Given the description of an element on the screen output the (x, y) to click on. 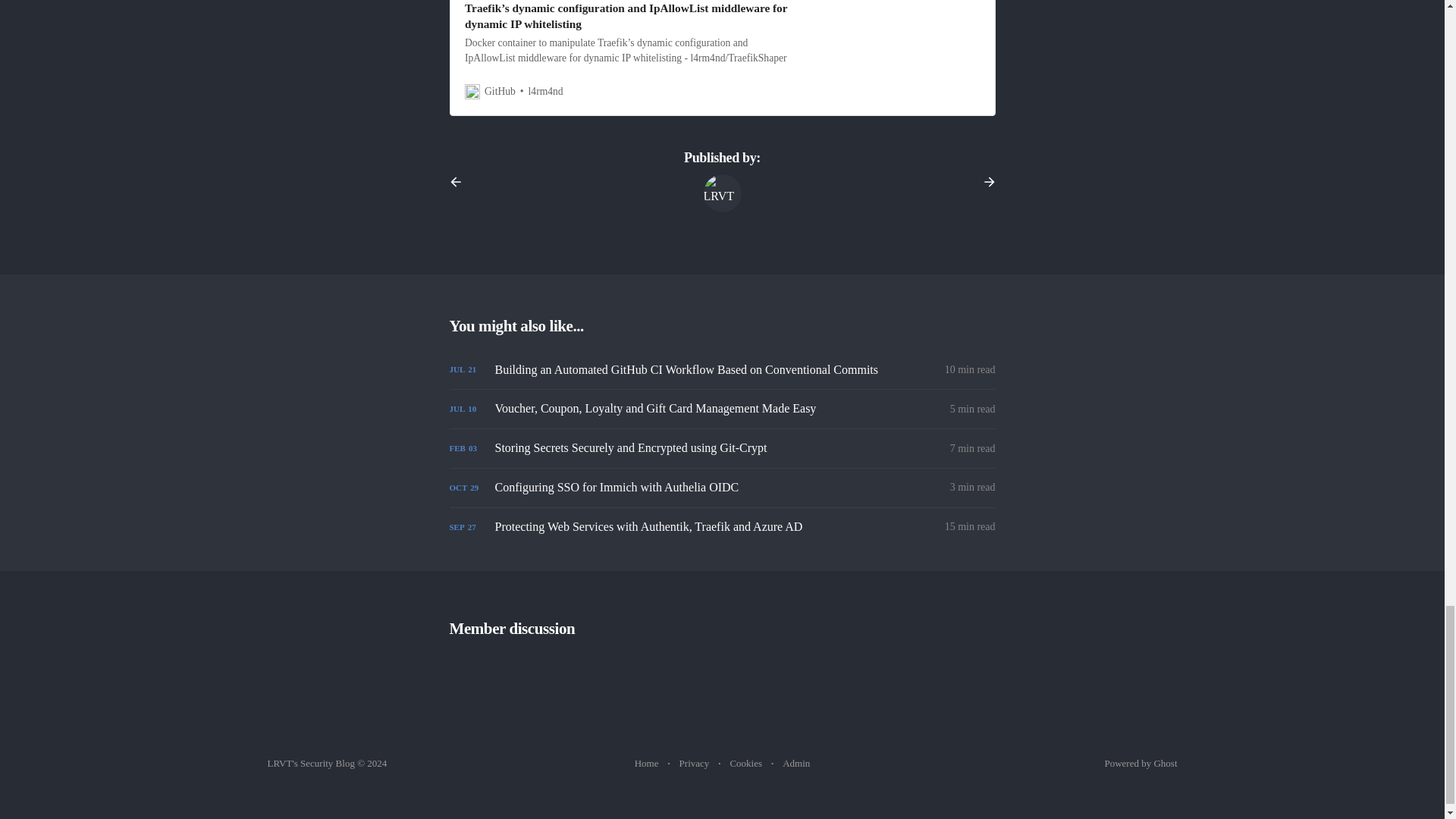
Powered by Ghost (1139, 763)
Cookies (745, 763)
Privacy (694, 763)
Home (646, 763)
Admin (796, 763)
